Given the description of an element on the screen output the (x, y) to click on. 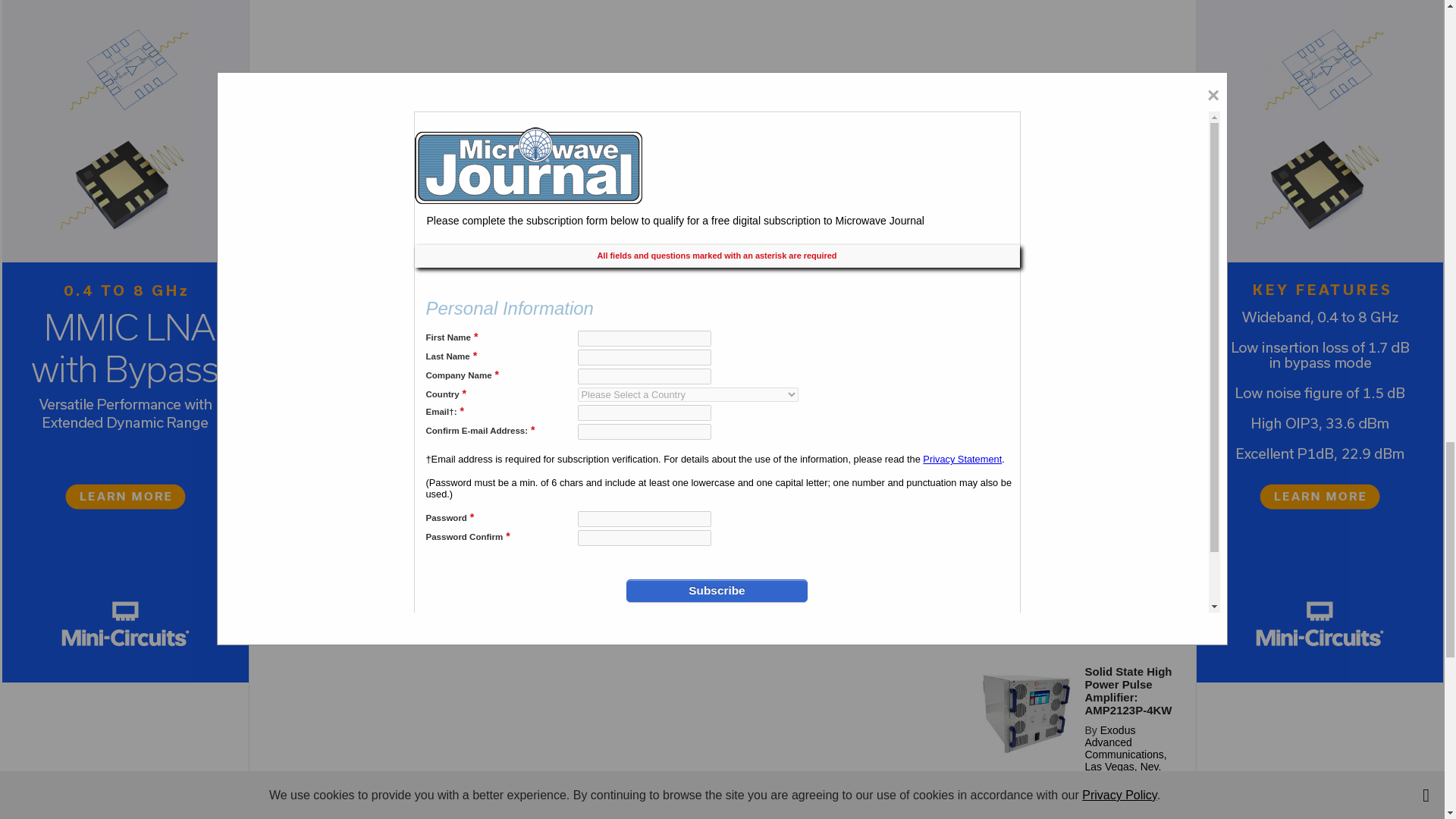
richardson-2-29-24wjt.jpg (1025, 796)
3rd party ad content (1075, 72)
200x200 AMP 2123P-4KW No-Cost eNewsletter Promotion-6-3.jpg (1025, 713)
50P-2089 SMAwjt.jpg (1025, 582)
krytar-6-26-24.jpg (1025, 470)
